Given the description of an element on the screen output the (x, y) to click on. 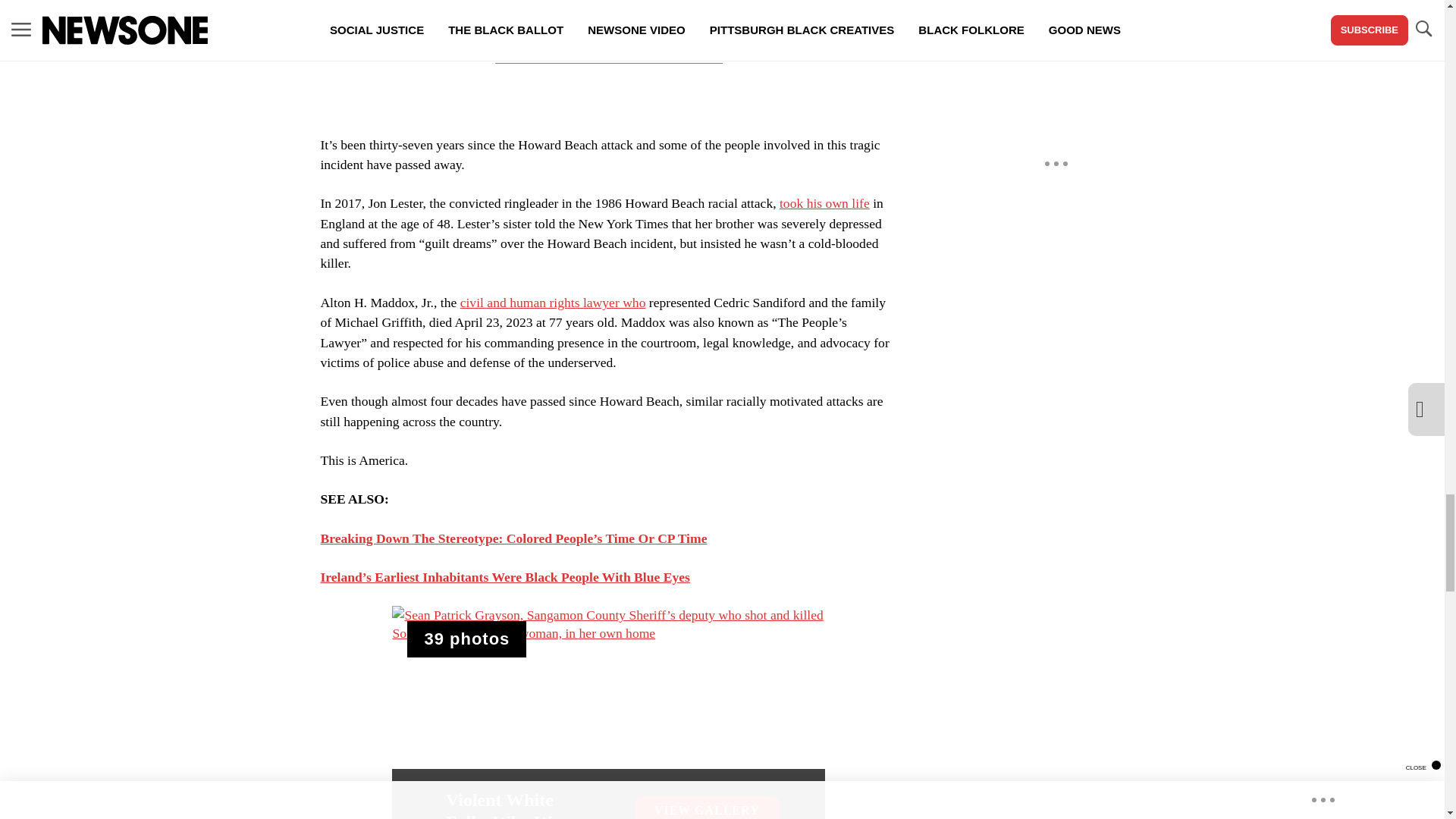
civil and human rights lawyer who (553, 302)
took his own life (823, 202)
Media Playlist (466, 638)
